Given the description of an element on the screen output the (x, y) to click on. 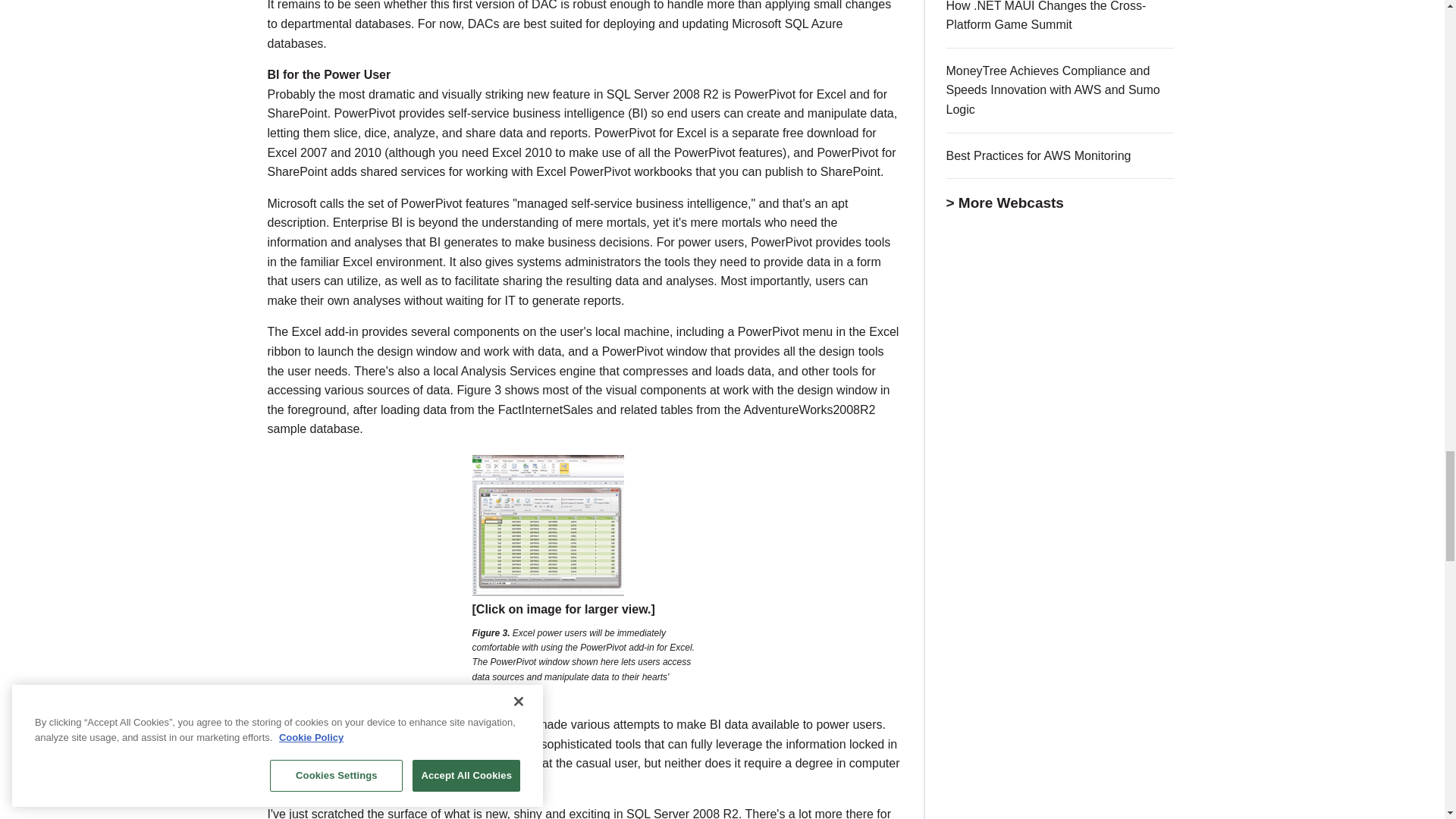
3rd party ad content (1059, 360)
3rd party ad content (1059, 588)
3rd party ad content (1059, 770)
